Given the description of an element on the screen output the (x, y) to click on. 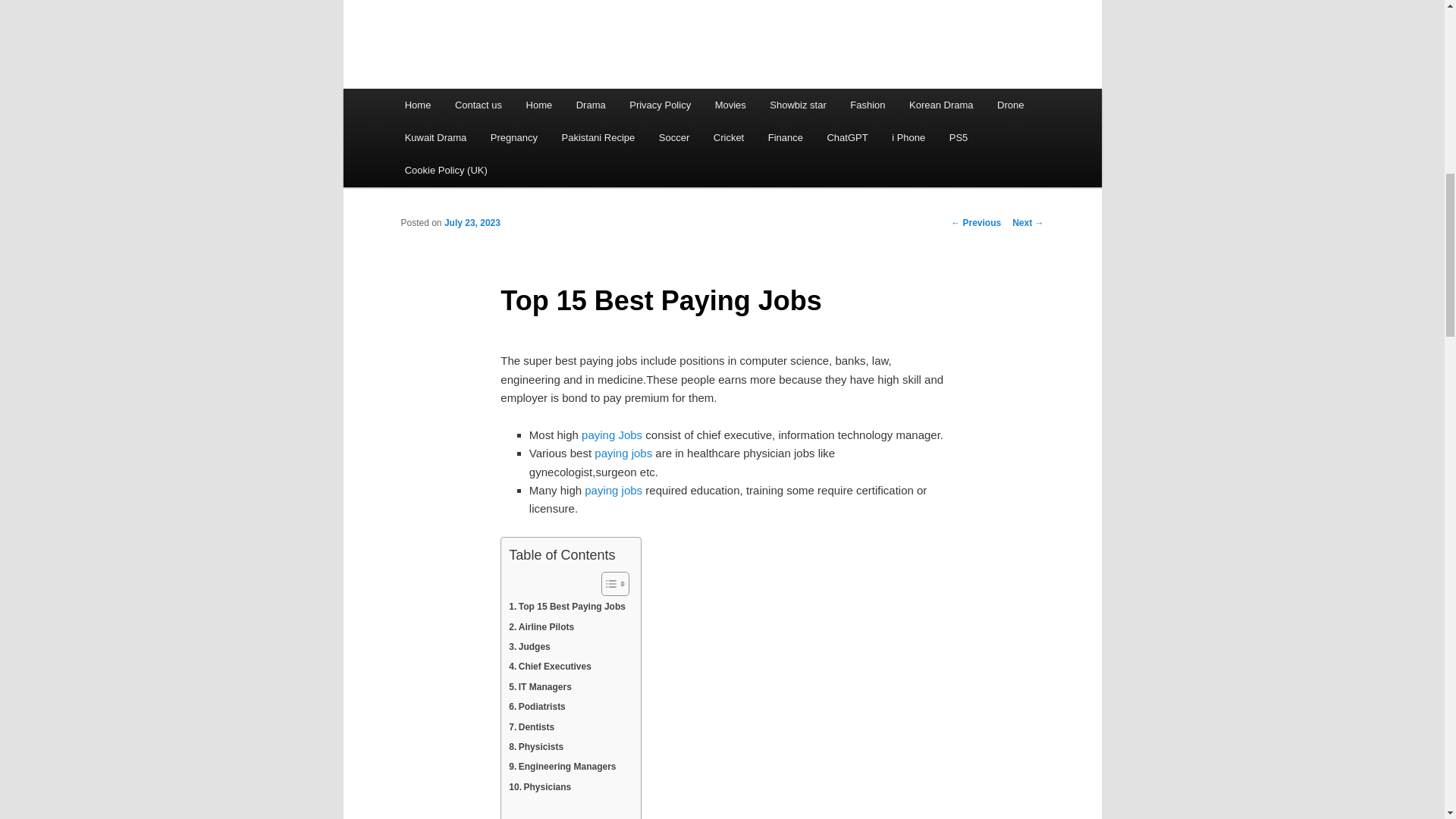
5:17 pm (472, 222)
Drone (1010, 104)
ChatGPT (847, 137)
Judges (529, 646)
Pregnancy (514, 137)
Movies (730, 104)
Showbiz star (798, 104)
Physicians (539, 786)
Podiatrists (536, 706)
paying Jobs (611, 434)
